Given the description of an element on the screen output the (x, y) to click on. 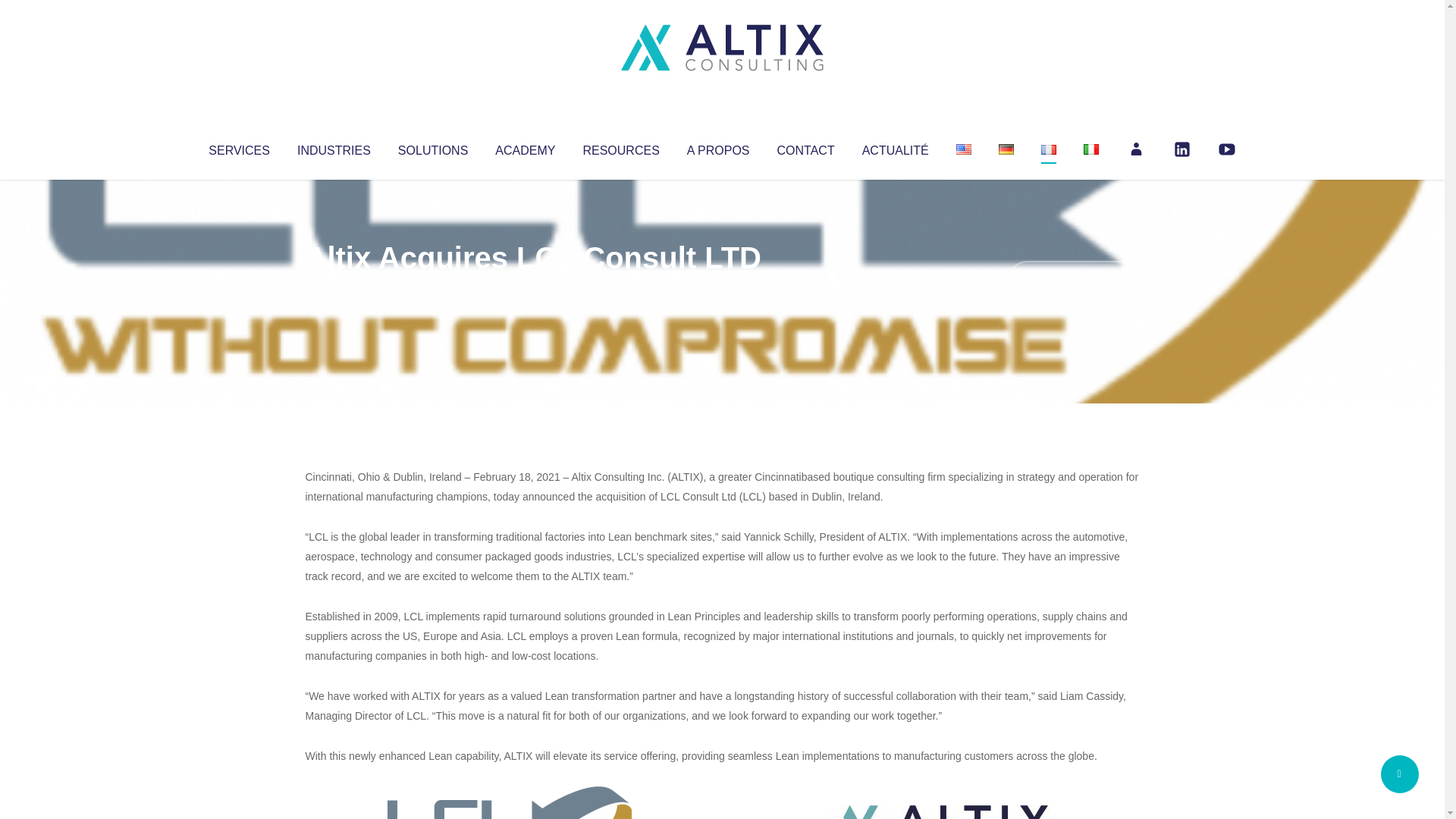
No Comments (1073, 278)
Altix (333, 287)
INDUSTRIES (334, 146)
A PROPOS (718, 146)
RESOURCES (620, 146)
SERVICES (238, 146)
ACADEMY (524, 146)
Uncategorized (530, 287)
SOLUTIONS (432, 146)
Articles par Altix (333, 287)
